Given the description of an element on the screen output the (x, y) to click on. 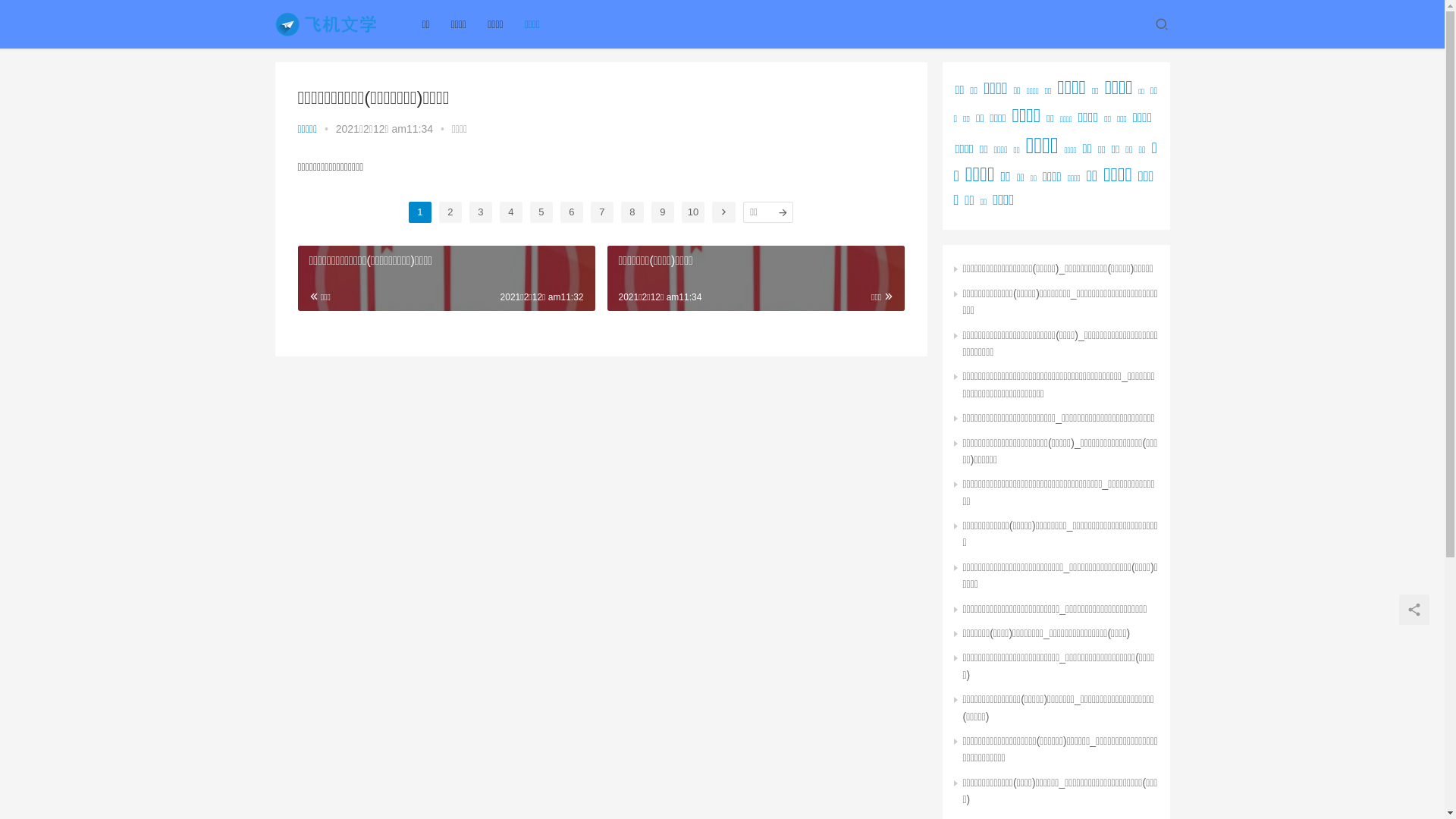
9 Element type: text (662, 211)
8 Element type: text (632, 211)
7 Element type: text (601, 211)
3 Element type: text (480, 211)
10 Element type: text (692, 211)
1 Element type: text (419, 211)
2 Element type: text (450, 211)
5 Element type: text (541, 211)
4 Element type: text (510, 211)
6 Element type: text (571, 211)
